Given the description of an element on the screen output the (x, y) to click on. 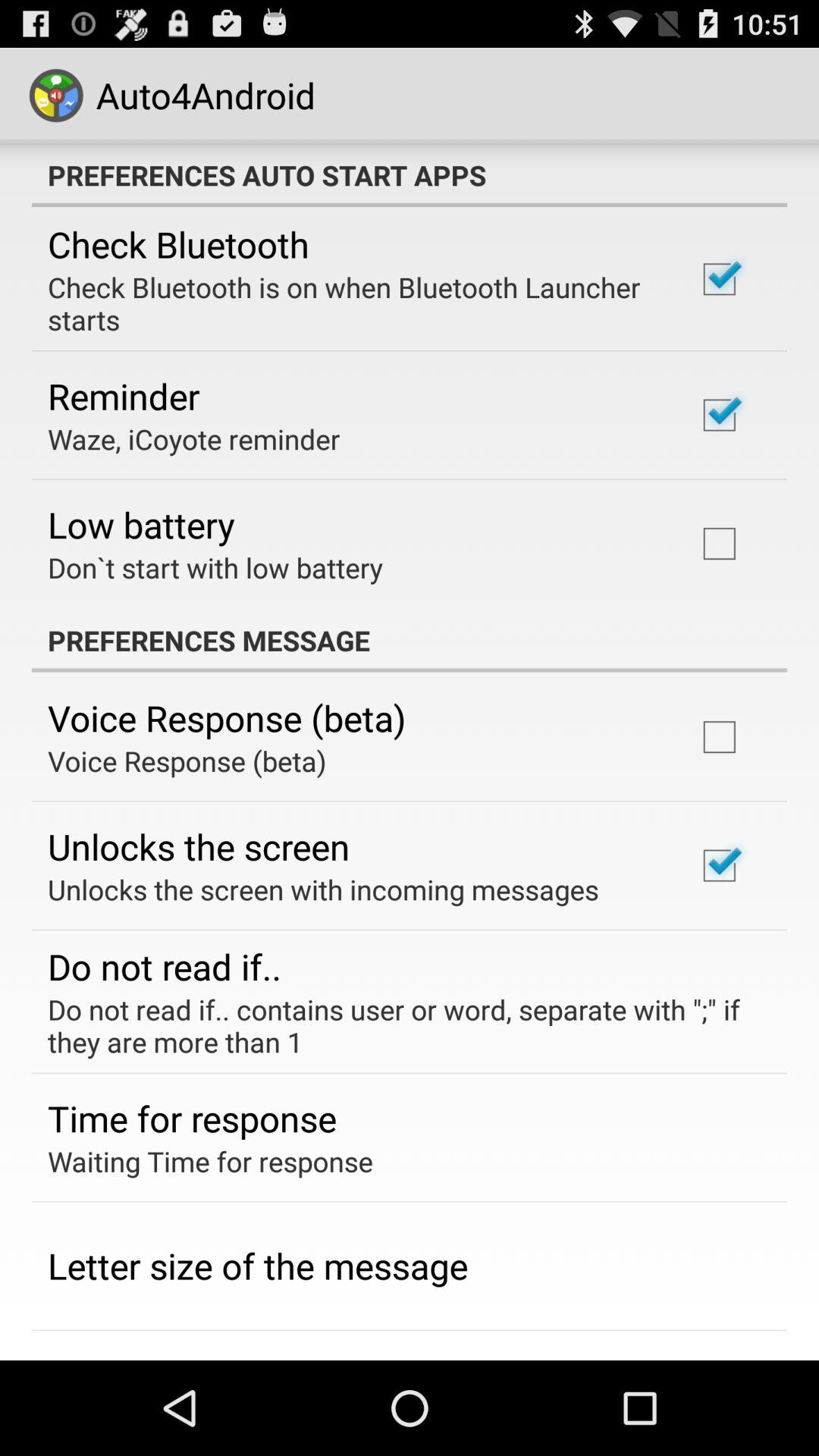
click the app above the low battery item (193, 438)
